Given the description of an element on the screen output the (x, y) to click on. 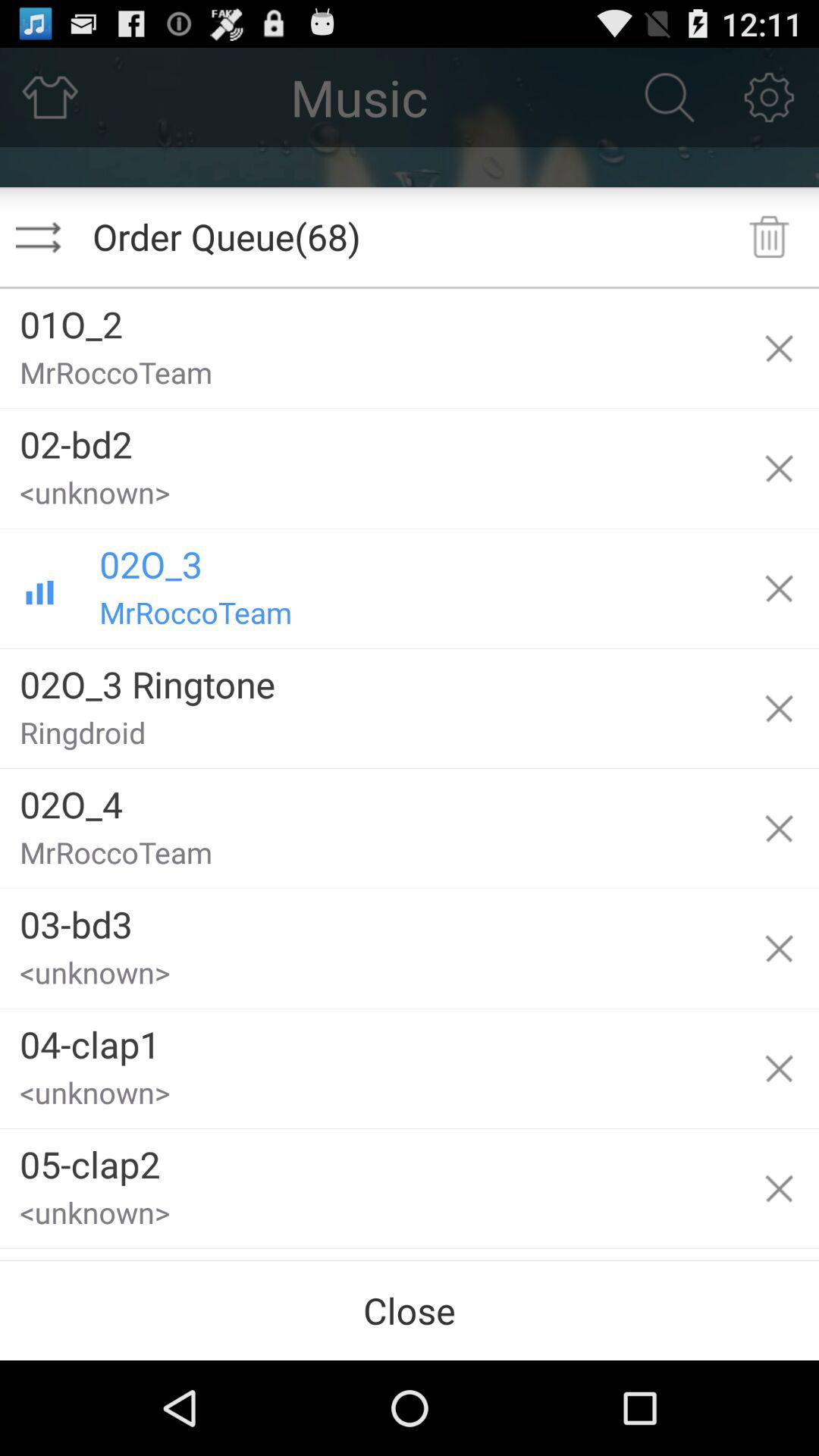
turn off item above the 02o_4 item (369, 738)
